Given the description of an element on the screen output the (x, y) to click on. 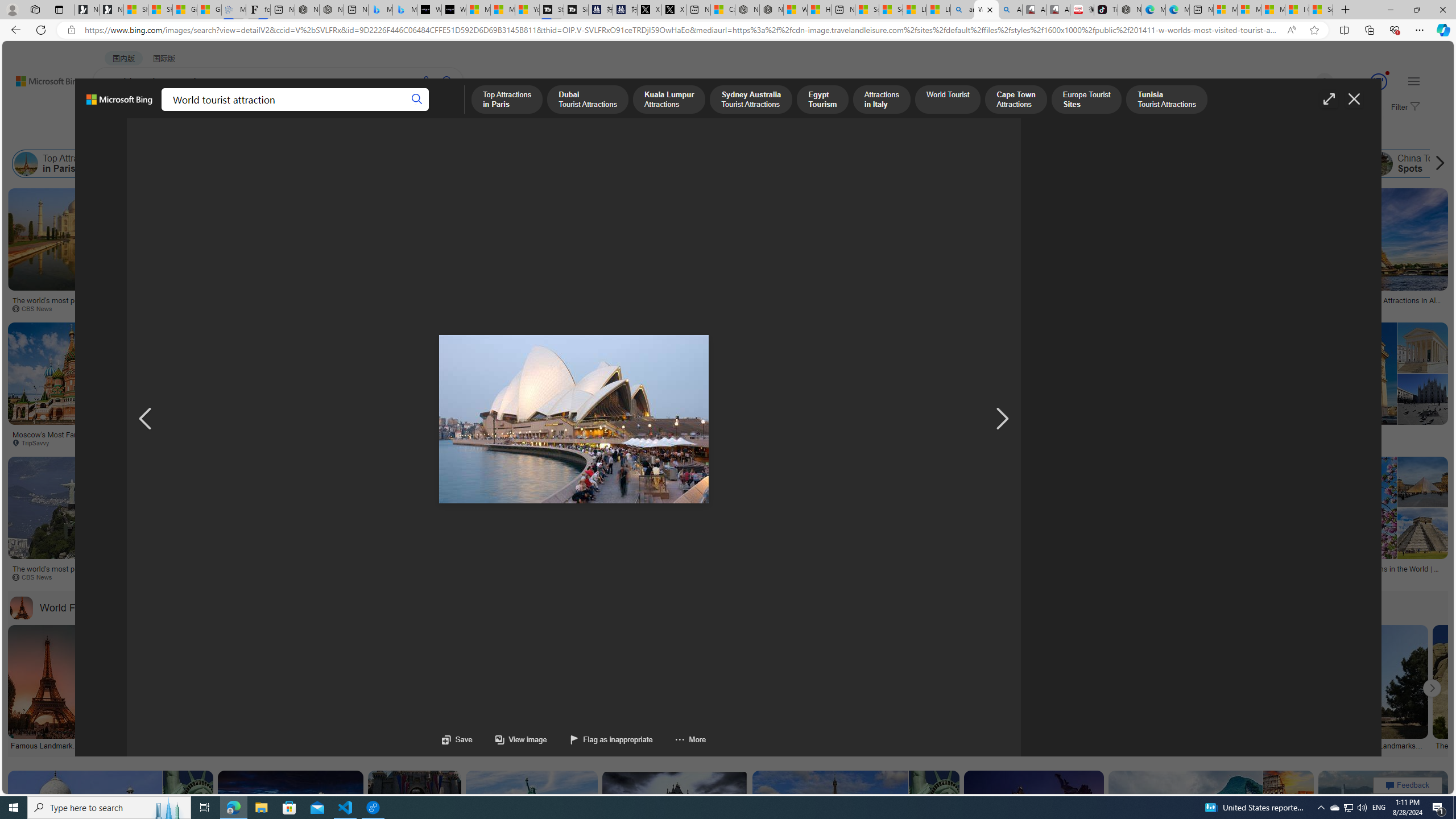
Jetsetter (880, 308)
travelingcanucks.com (1159, 442)
Tunisia Tourist Attractions (981, 163)
Famous Landmarks in the world (46, 744)
Layout (252, 135)
Dropdown Menu (443, 111)
TripSavvy (504, 576)
Cape Town Attractions (812, 163)
